Given the description of an element on the screen output the (x, y) to click on. 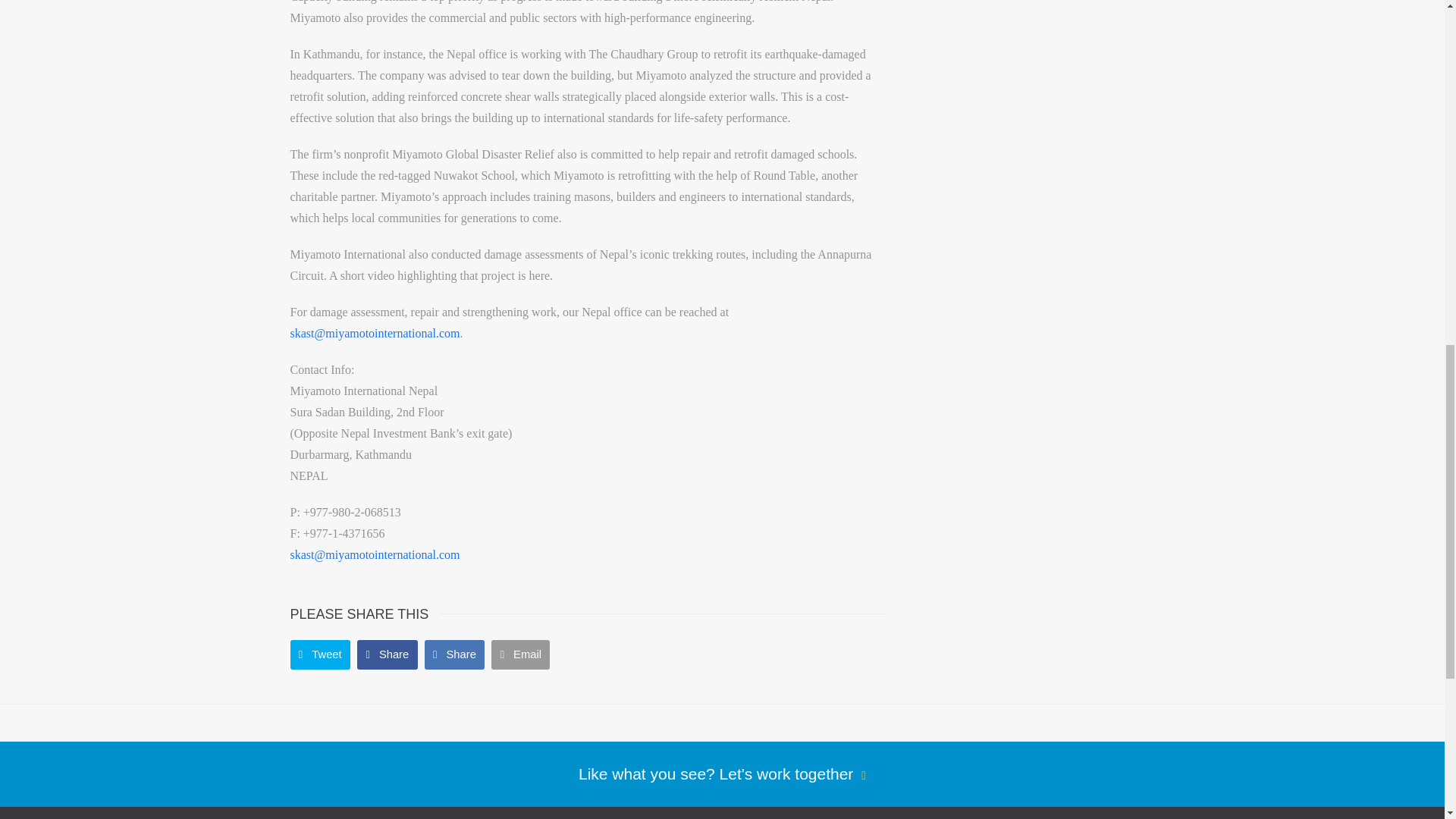
Email (521, 654)
Share (454, 654)
Tweet (319, 654)
Share (386, 654)
Like what you see? Let's work together (722, 773)
